Given the description of an element on the screen output the (x, y) to click on. 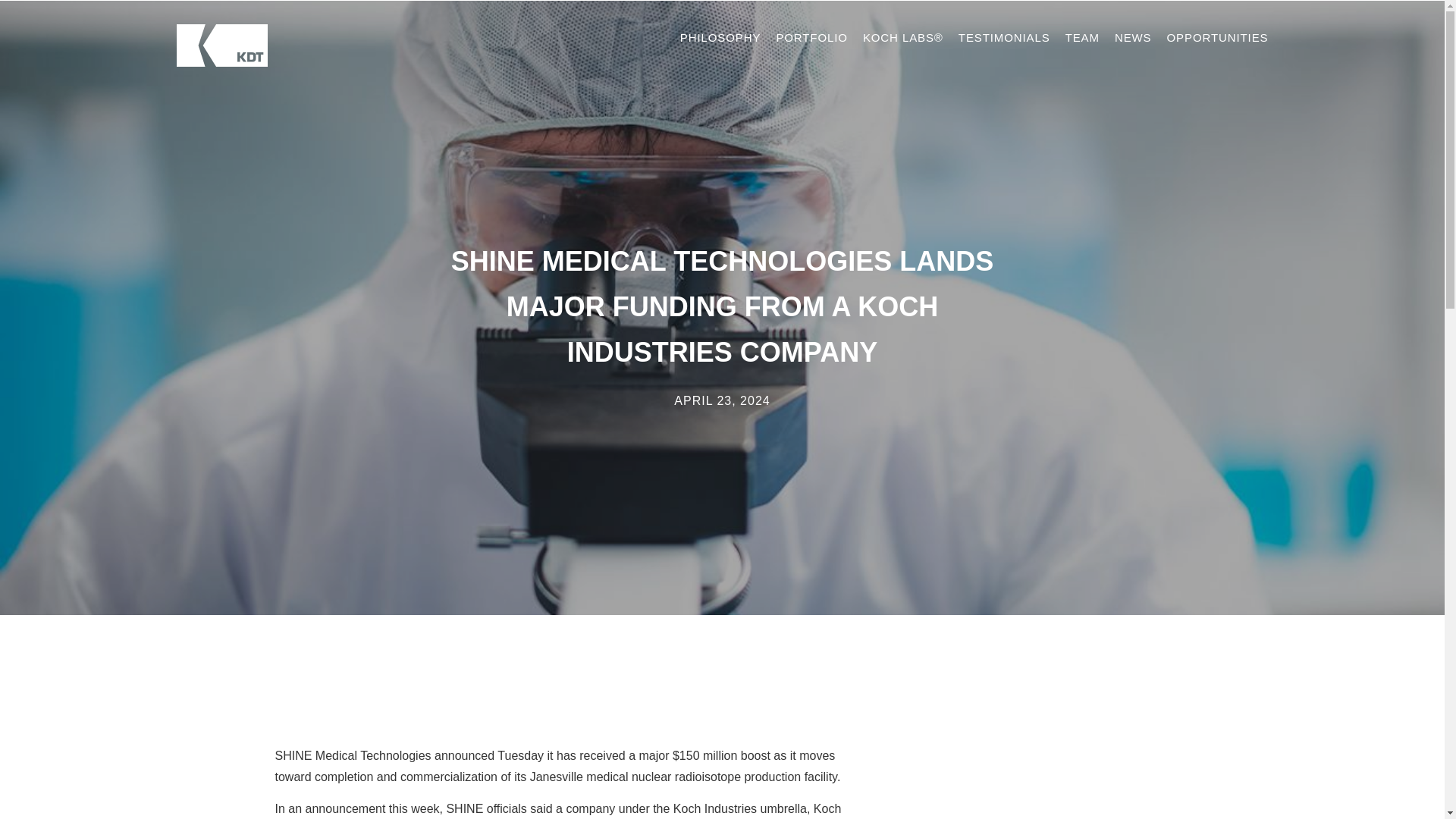
PHILOSOPHY (720, 37)
TEAM (1082, 37)
OPPORTUNITIES (1217, 37)
PORTFOLIO (811, 37)
TESTIMONIALS (1003, 37)
NEWS (1133, 37)
